Given the description of an element on the screen output the (x, y) to click on. 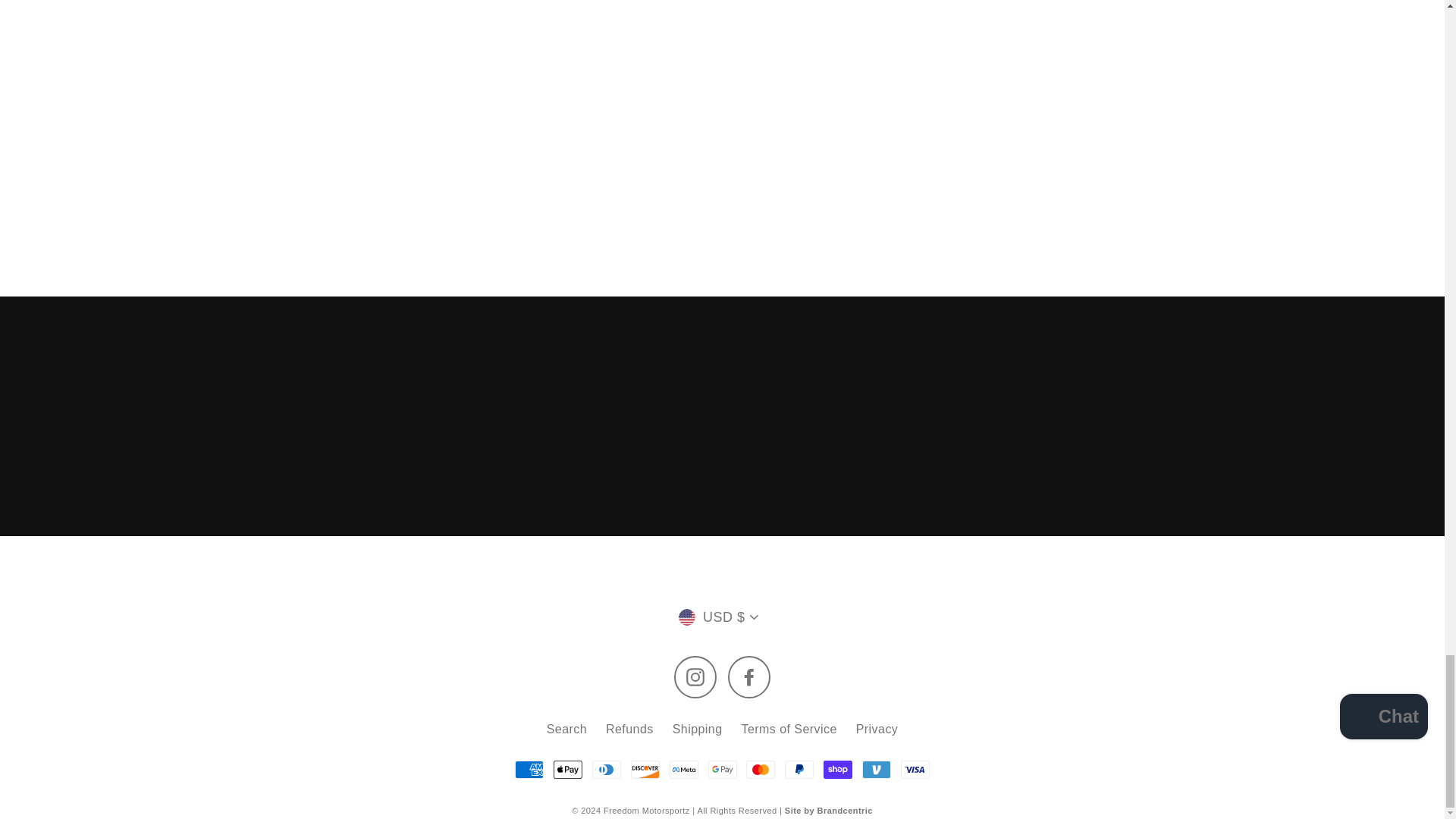
PayPal (798, 769)
Venmo (876, 769)
Discover (644, 769)
American Express (529, 769)
Freedom Motorsportz on Instagram (695, 677)
Meta Pay (683, 769)
Google Pay (721, 769)
Freedom Motorsportz on Facebook (749, 677)
Apple Pay (567, 769)
Mastercard (759, 769)
